Given the description of an element on the screen output the (x, y) to click on. 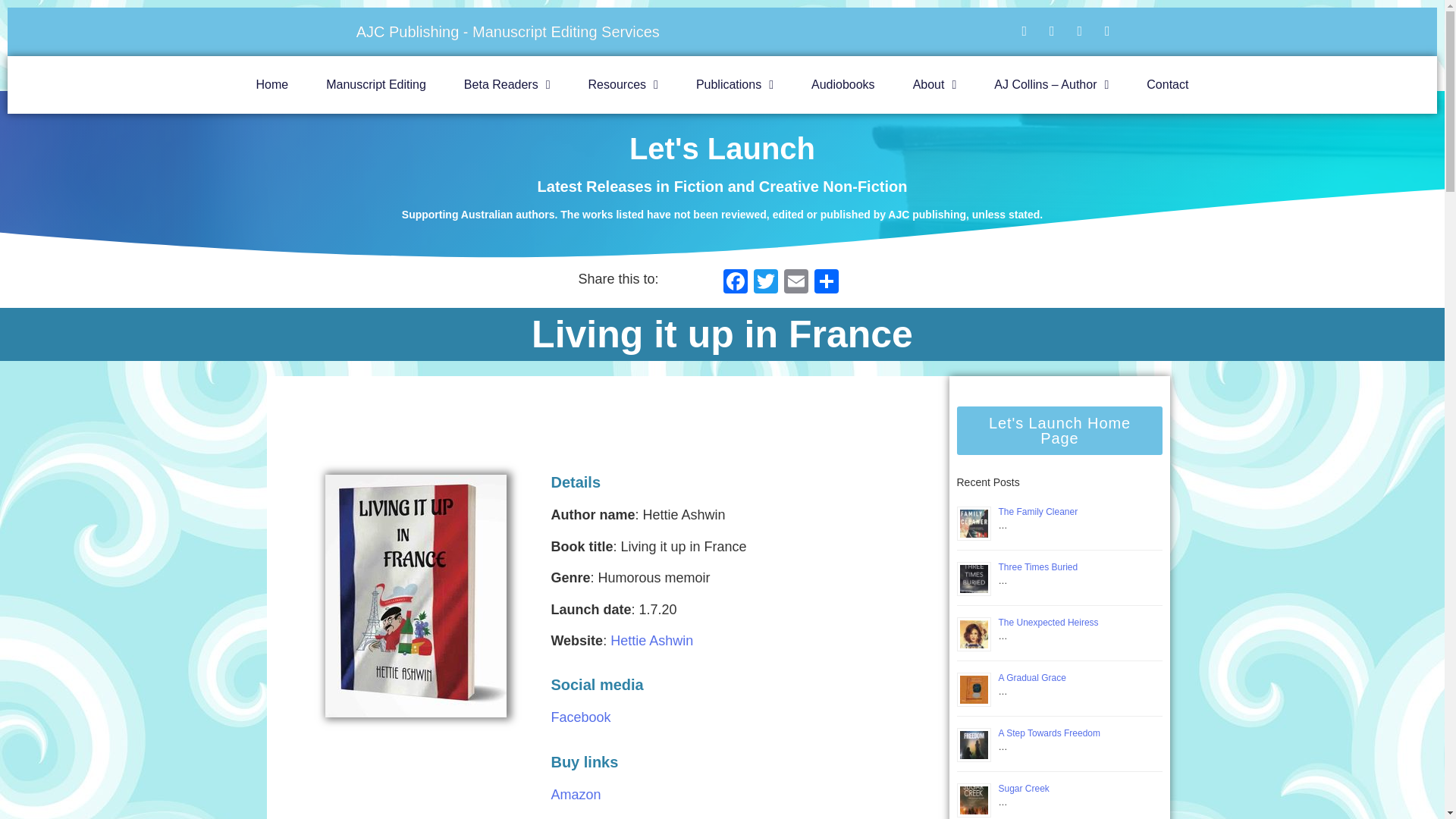
Home (272, 84)
Facebook (735, 283)
Contact (1167, 84)
Audiobooks (842, 84)
Twitter (765, 283)
Publications (734, 84)
AJC Publishing - Manuscript Editing Services (507, 31)
Email (795, 283)
Resources (623, 84)
Manuscript Editing (376, 84)
Beta Readers (507, 84)
About (934, 84)
